Given the description of an element on the screen output the (x, y) to click on. 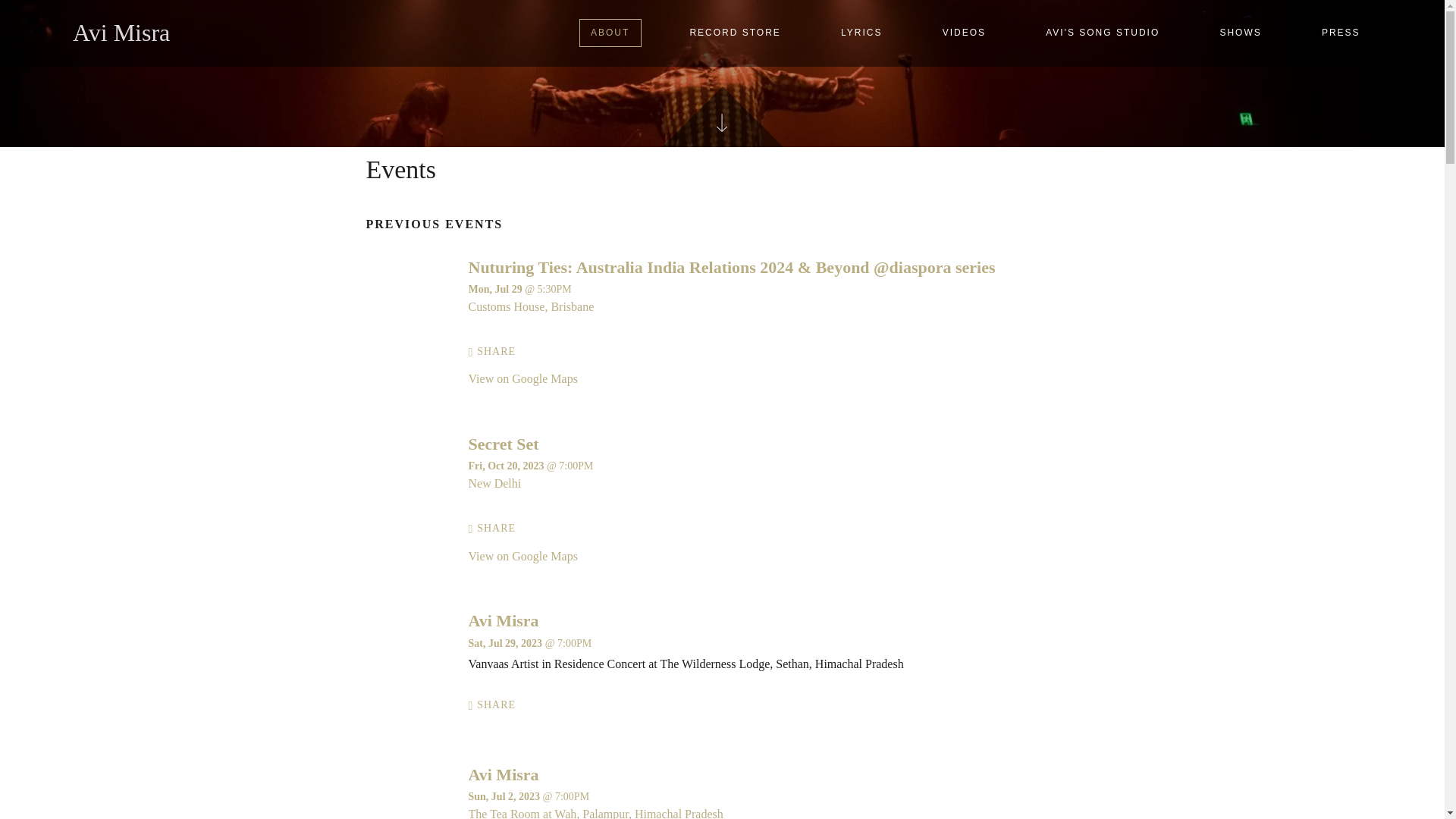
View on Google Maps (494, 482)
Avi Misra (503, 619)
Avi Misra (503, 773)
Customs House, Brisbane (531, 306)
Avi Misra (121, 32)
New Delhi (494, 482)
SHARE (492, 528)
AVI'S SONG STUDIO (1102, 32)
View on Google Maps (523, 378)
View on Google Maps (531, 306)
Secret Set (503, 443)
RECORD STORE (735, 32)
SHARE (492, 705)
SHOWS (1240, 32)
The Tea Room at Wah, Palampur, Himachal Pradesh (595, 813)
